Given the description of an element on the screen output the (x, y) to click on. 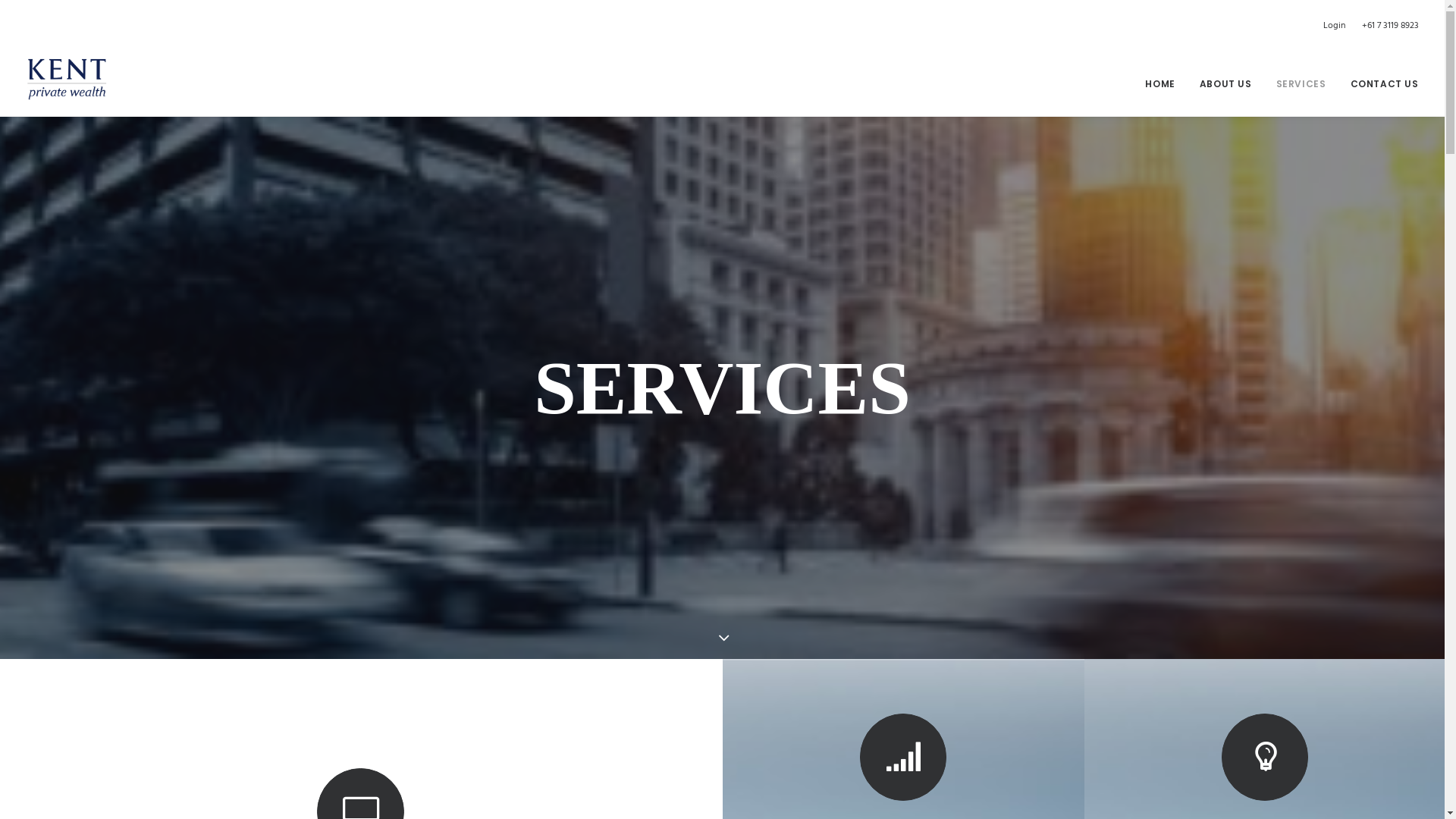
SERVICES Element type: text (1300, 83)
CONTACT US Element type: text (1378, 83)
ABOUT US Element type: text (1225, 83)
Login Element type: text (1336, 25)
+61 7 3119 8923 Element type: text (1386, 25)
HOME Element type: text (1165, 83)
